Given the description of an element on the screen output the (x, y) to click on. 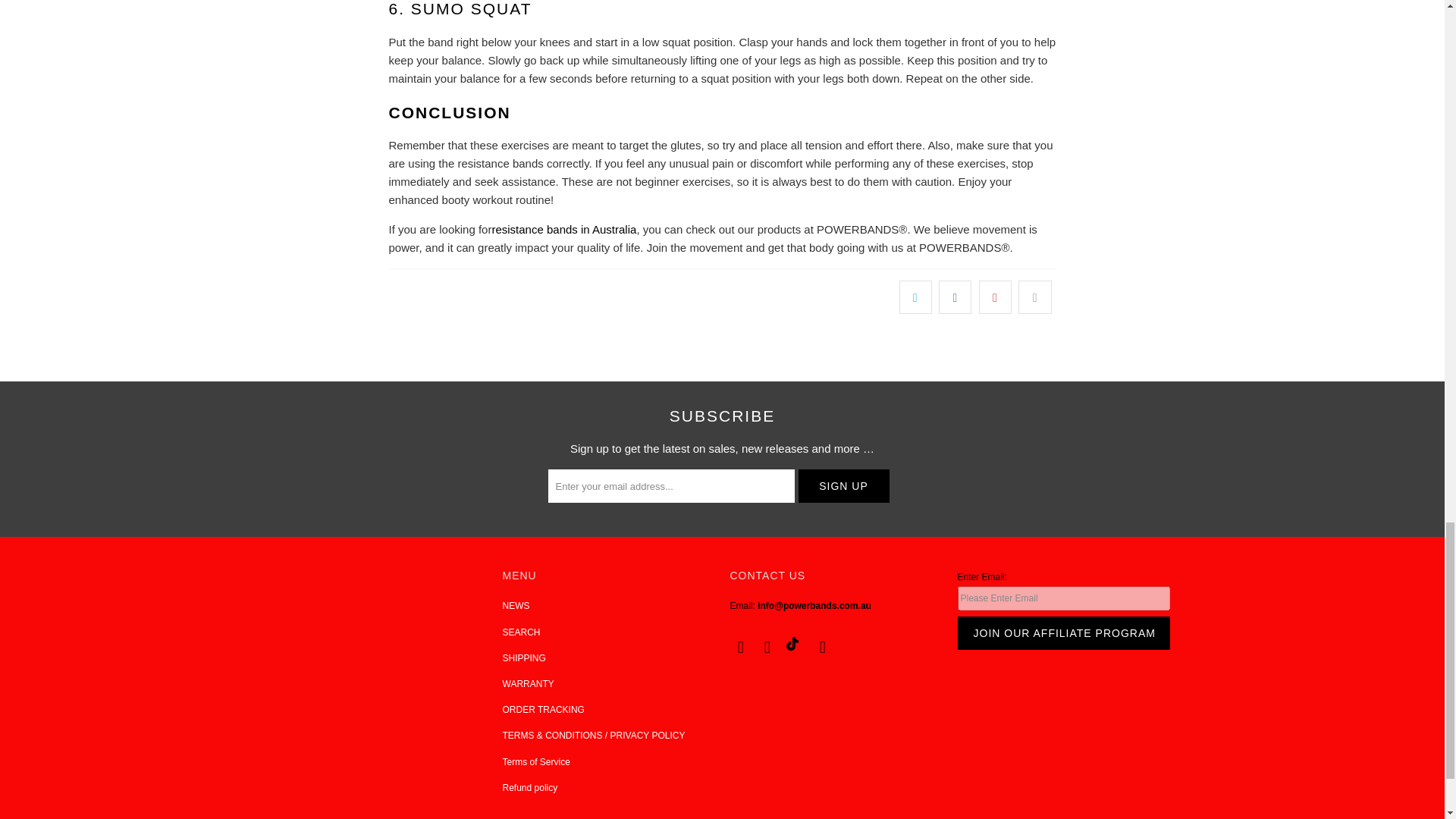
Join Our Affiliate Program (1062, 633)
Sign Up (842, 485)
Share this on Pinterest (994, 296)
Share this on Facebook (955, 296)
Share this on Twitter (915, 296)
Email this to a friend (1034, 296)
